Given the description of an element on the screen output the (x, y) to click on. 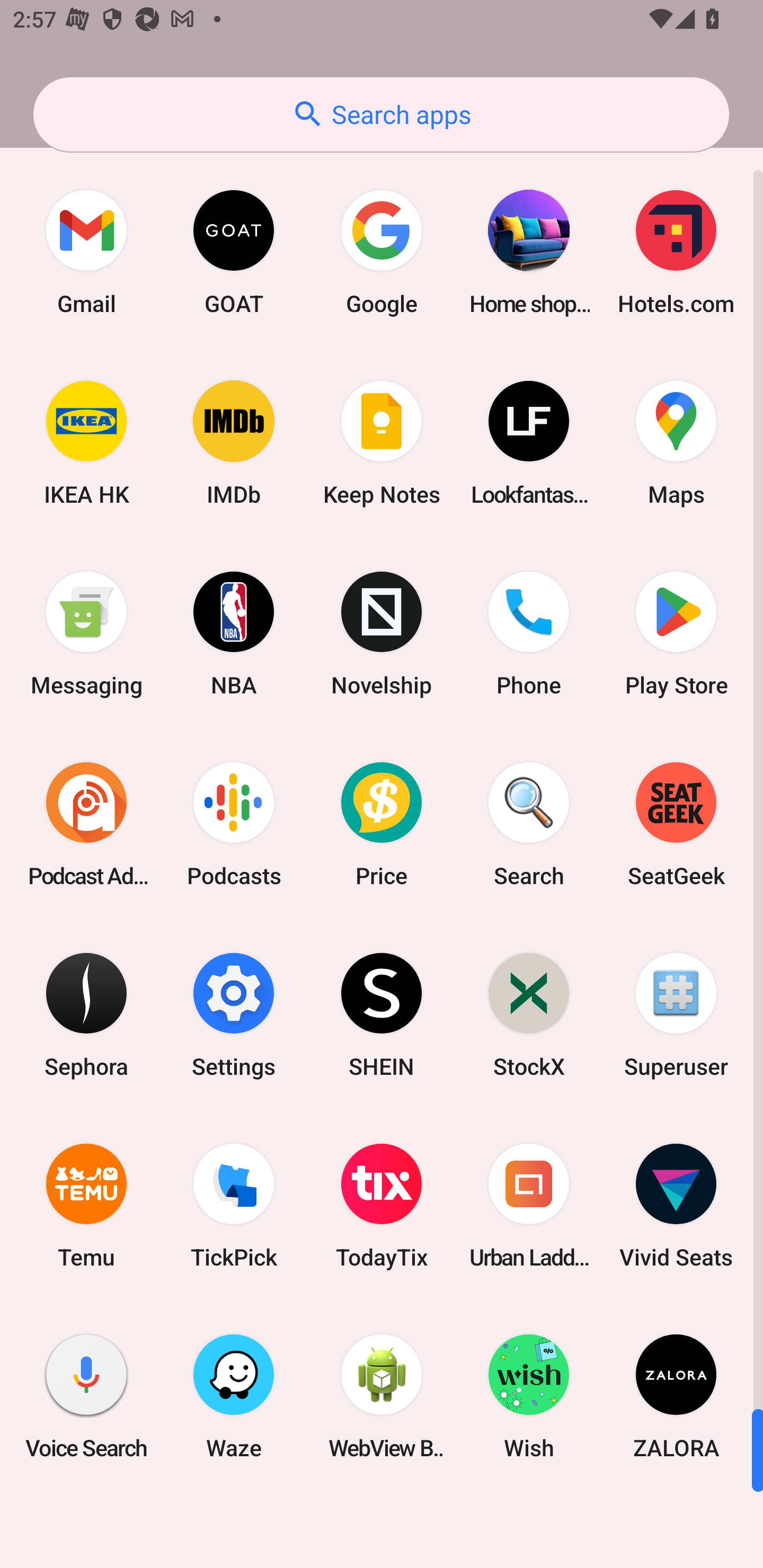
  Search apps (381, 114)
Gmail (86, 252)
GOAT (233, 252)
Google (381, 252)
Home shopping (528, 252)
Hotels.com (676, 252)
IKEA HK (86, 442)
IMDb (233, 442)
Keep Notes (381, 442)
Lookfantastic (528, 442)
Maps (676, 442)
Messaging (86, 633)
NBA (233, 633)
Novelship (381, 633)
Phone (528, 633)
Play Store (676, 633)
Podcast Addict (86, 823)
Podcasts (233, 823)
Price (381, 823)
Search (528, 823)
SeatGeek (676, 823)
Sephora (86, 1014)
Settings (233, 1014)
SHEIN (381, 1014)
StockX (528, 1014)
Superuser (676, 1014)
Temu (86, 1205)
TickPick (233, 1205)
TodayTix (381, 1205)
Urban Ladder (528, 1205)
Vivid Seats (676, 1205)
Voice Search (86, 1396)
Waze (233, 1396)
WebView Browser Tester (381, 1396)
Wish (528, 1396)
ZALORA (676, 1396)
